Given the description of an element on the screen output the (x, y) to click on. 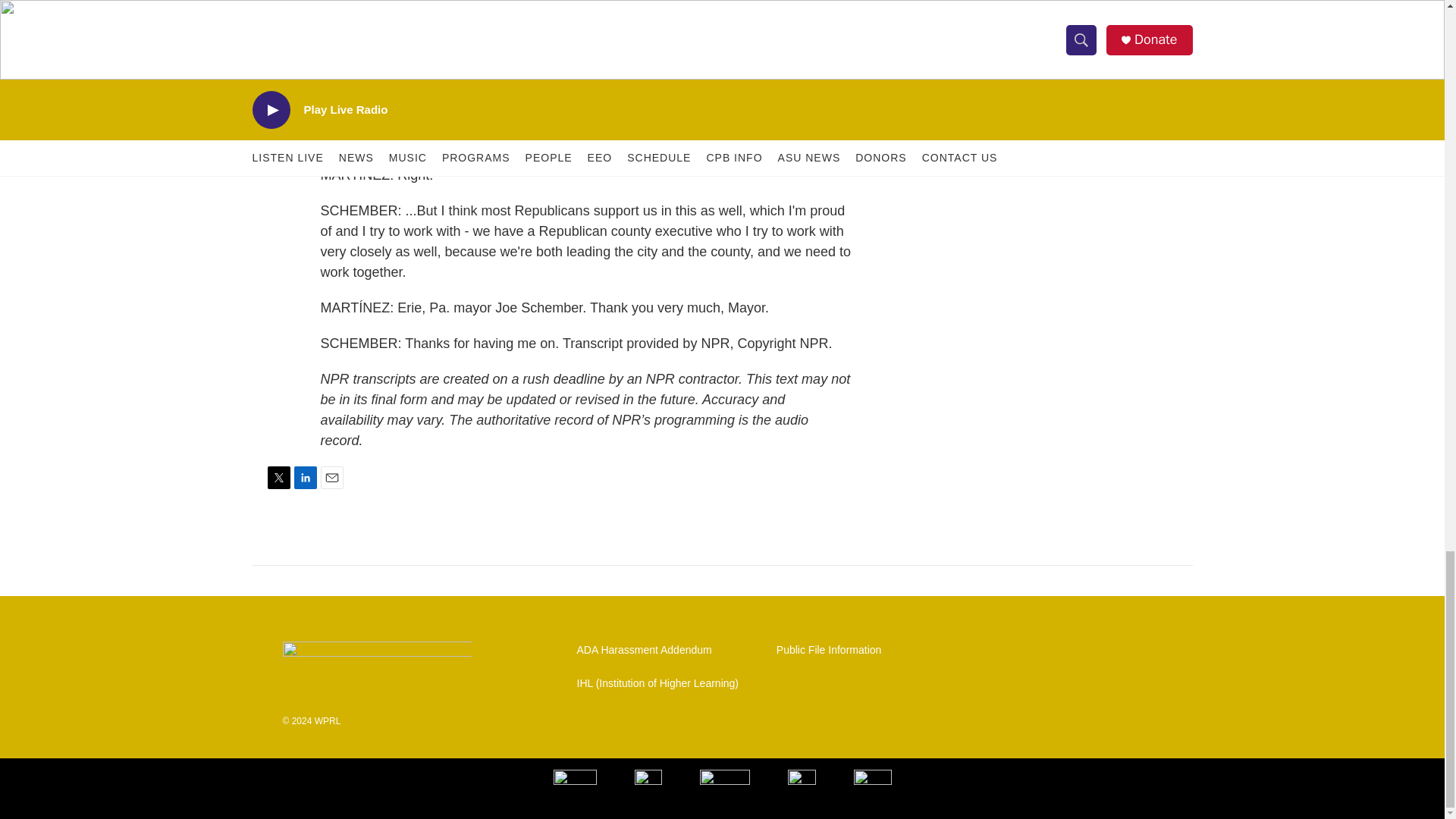
LinkedIn (305, 477)
Email (331, 477)
Twitter (277, 477)
